Given the description of an element on the screen output the (x, y) to click on. 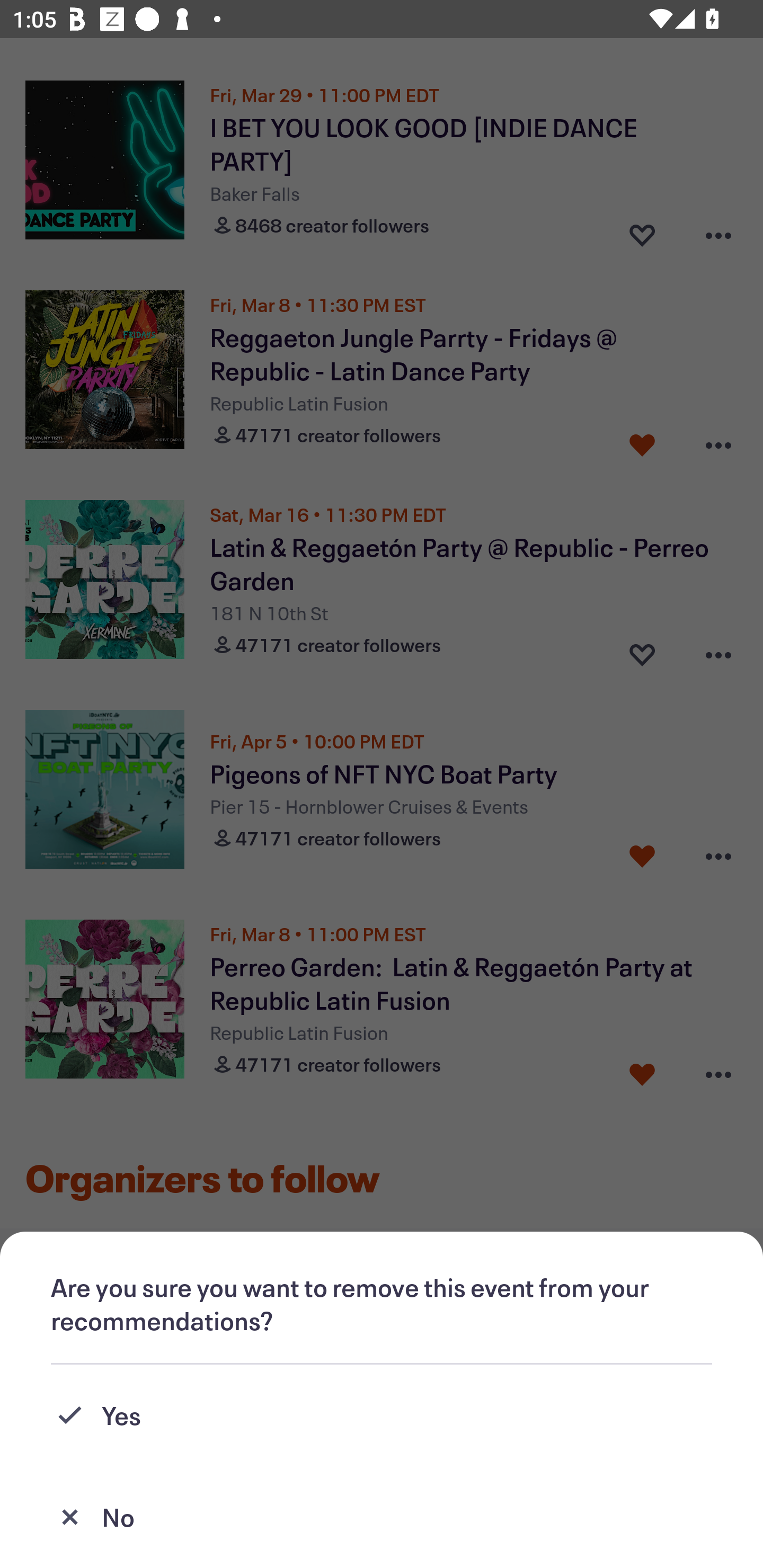
Yes (381, 1415)
No (381, 1517)
